Given the description of an element on the screen output the (x, y) to click on. 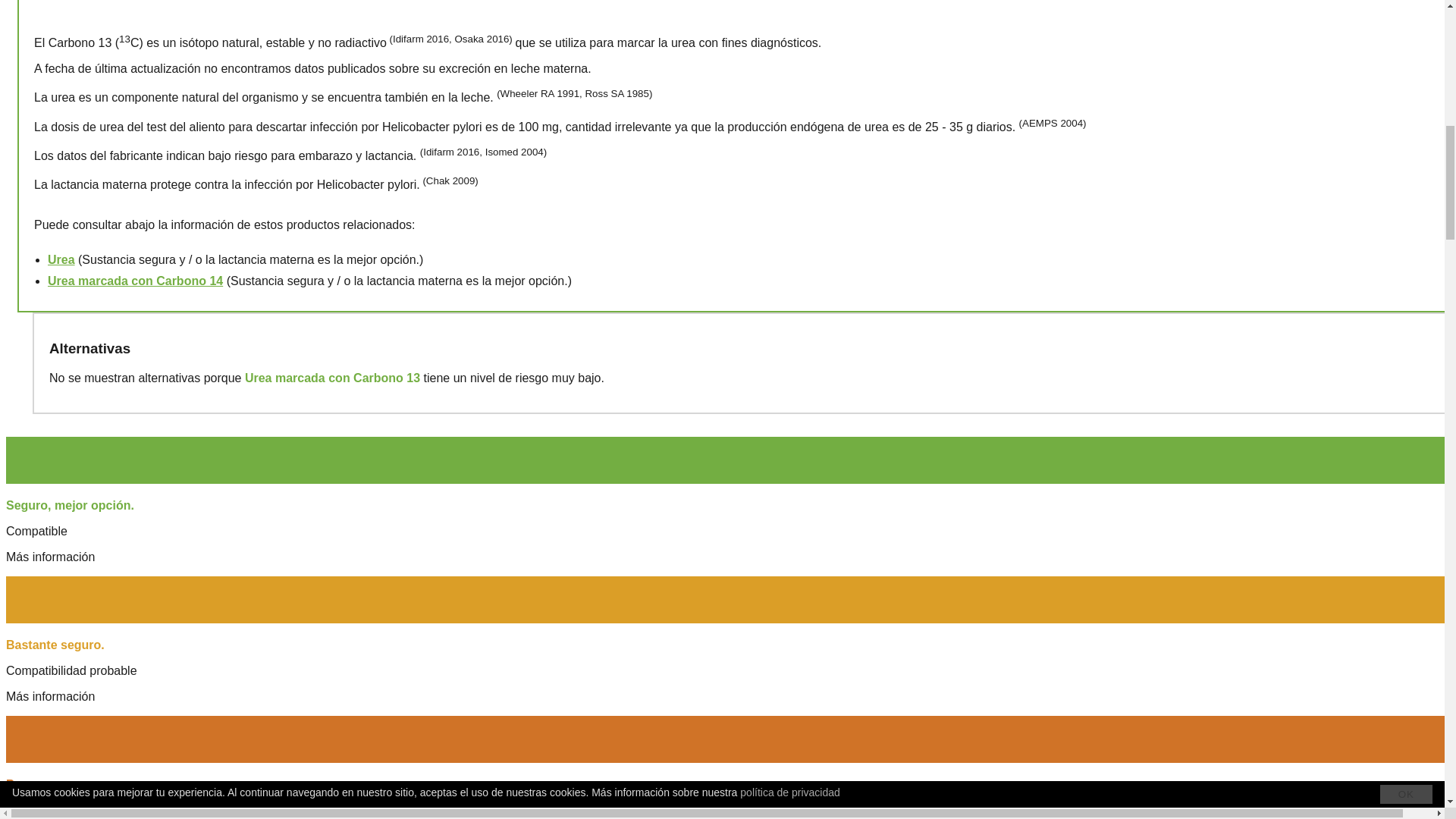
Urea marcada con Carbono 14 (135, 280)
Urea (61, 259)
